Given the description of an element on the screen output the (x, y) to click on. 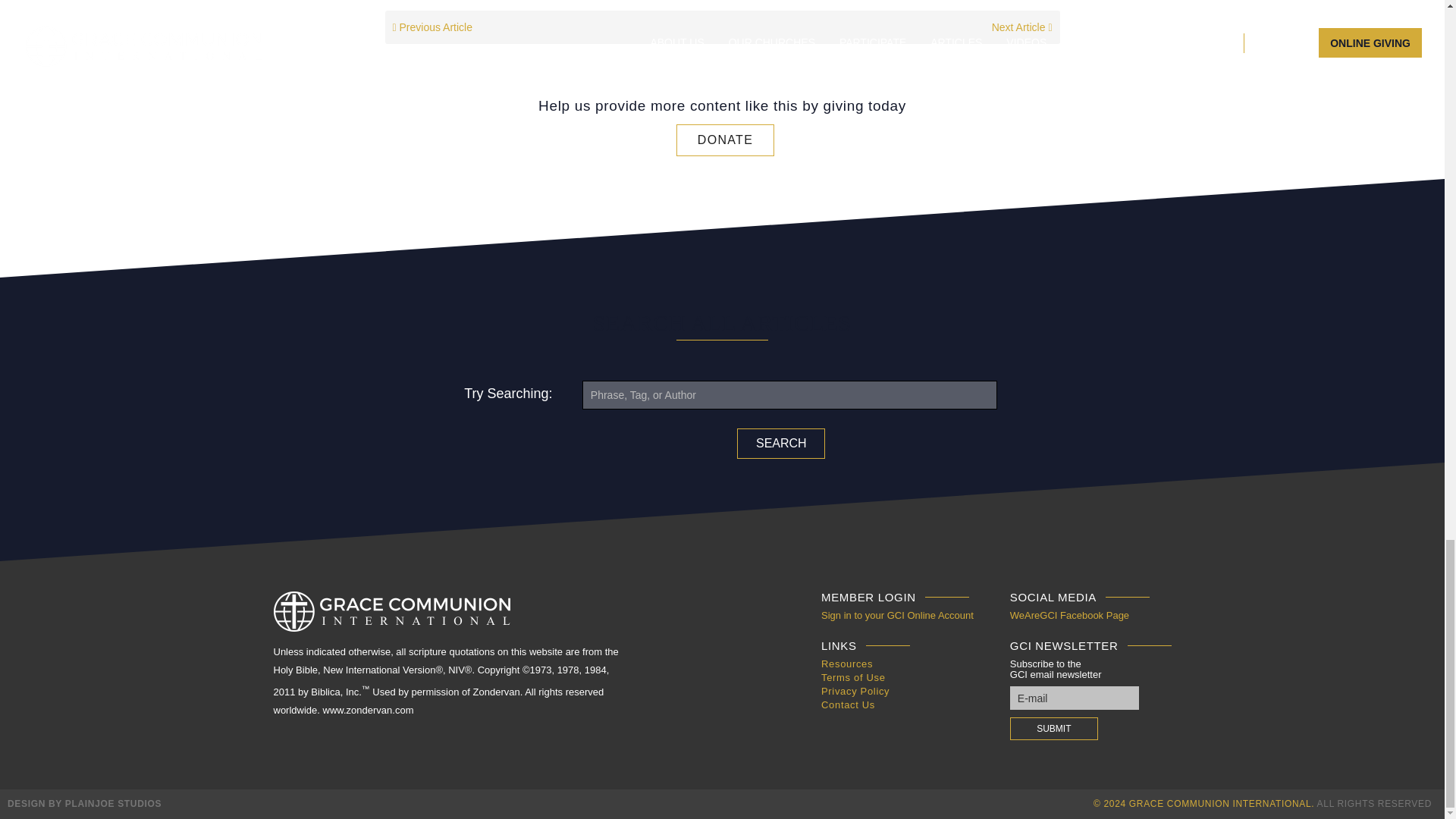
Design by Plain Joe Studios (84, 803)
Submit (1053, 728)
Search (780, 443)
